Given the description of an element on the screen output the (x, y) to click on. 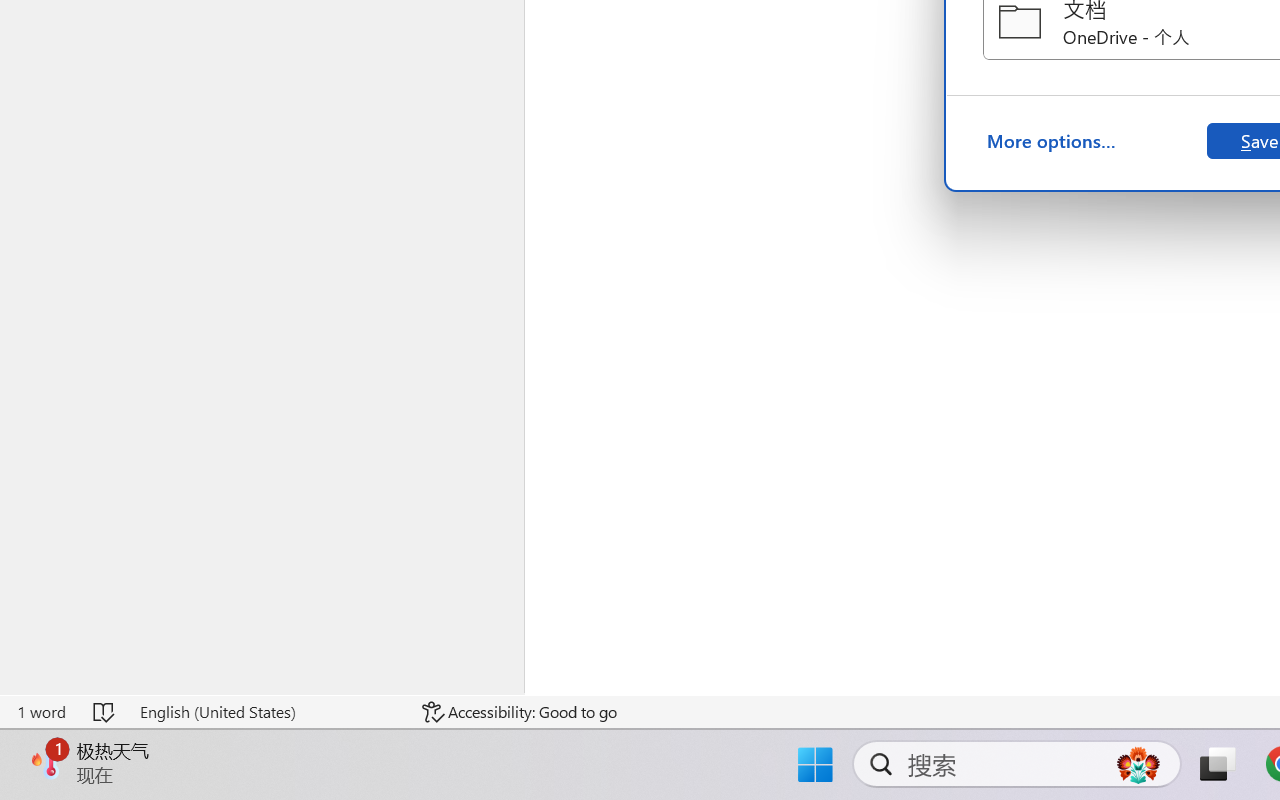
Language English (United States) (267, 712)
AutomationID: DynamicSearchBoxGleamImage (1138, 764)
Accessibility Checker Accessibility: Good to go (519, 712)
Spelling and Grammar Check No Errors (105, 712)
AutomationID: BadgeAnchorLargeTicker (46, 762)
Word Count 1 word (41, 712)
